Given the description of an element on the screen output the (x, y) to click on. 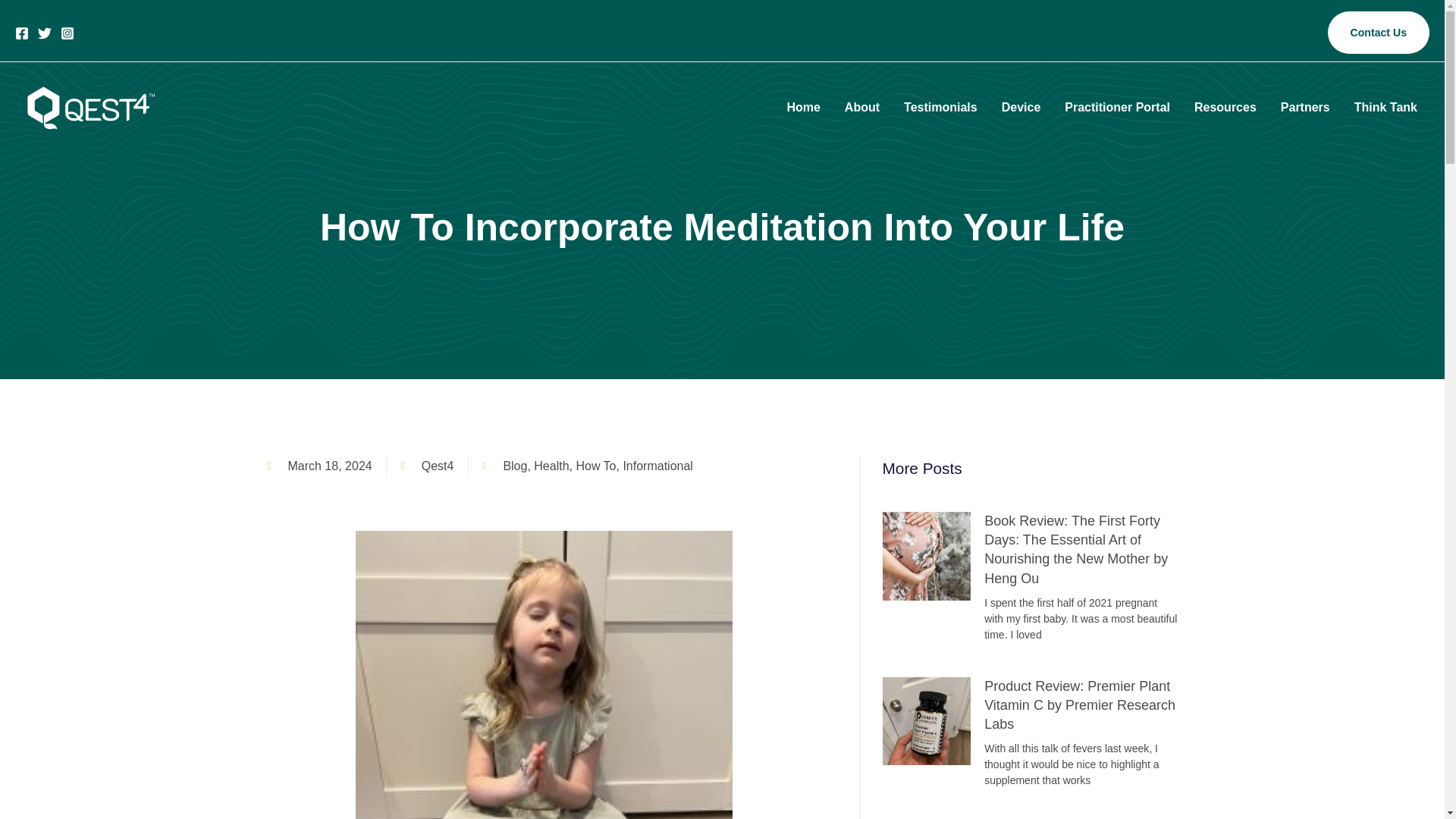
Practitioner Portal (1117, 107)
Informational (658, 465)
Resources (1225, 107)
Contact Us (1378, 32)
Testimonials (940, 107)
Blog (514, 465)
How To (595, 465)
Think Tank (1385, 107)
Health (551, 465)
